Given the description of an element on the screen output the (x, y) to click on. 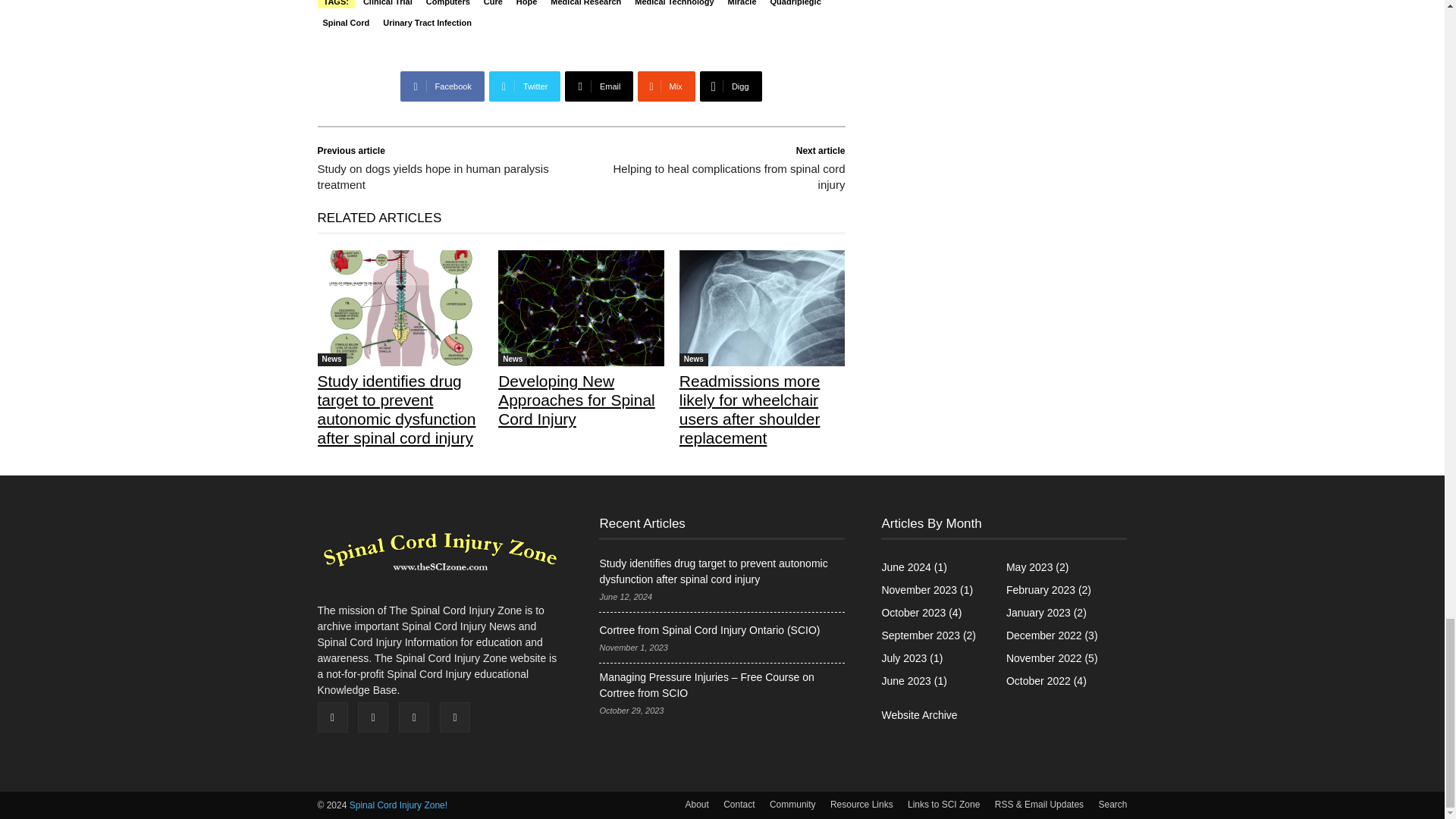
Facebook (441, 86)
Facebook (441, 86)
Urinary Tract Infection (427, 22)
Quadriplegic (796, 3)
Medical Technology (673, 3)
Spinal Cord (345, 22)
Medical Research (585, 3)
Clinical Trial (387, 3)
Hope (527, 3)
Cure (493, 3)
Miracle (741, 3)
Computers (448, 3)
